Given the description of an element on the screen output the (x, y) to click on. 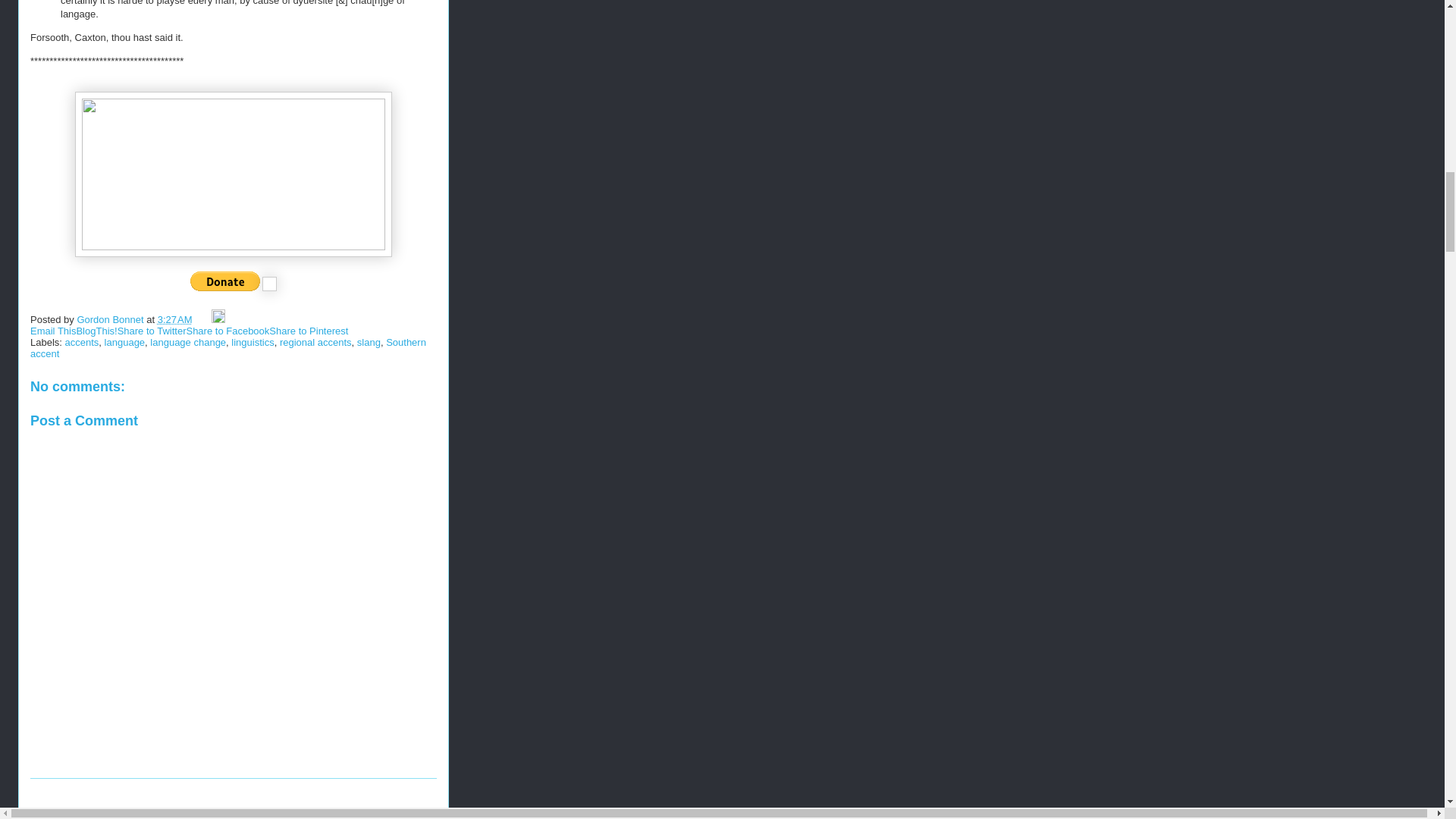
Gordon Bonnet (112, 319)
linguistics (252, 342)
BlogThis! (95, 330)
BlogThis! (95, 330)
Email Post (203, 319)
Share to Pinterest (308, 330)
Southern accent (228, 347)
language (124, 342)
Share to Facebook (227, 330)
accents (82, 342)
Share to Twitter (151, 330)
Share to Twitter (151, 330)
permanent link (174, 319)
language change (187, 342)
